Given the description of an element on the screen output the (x, y) to click on. 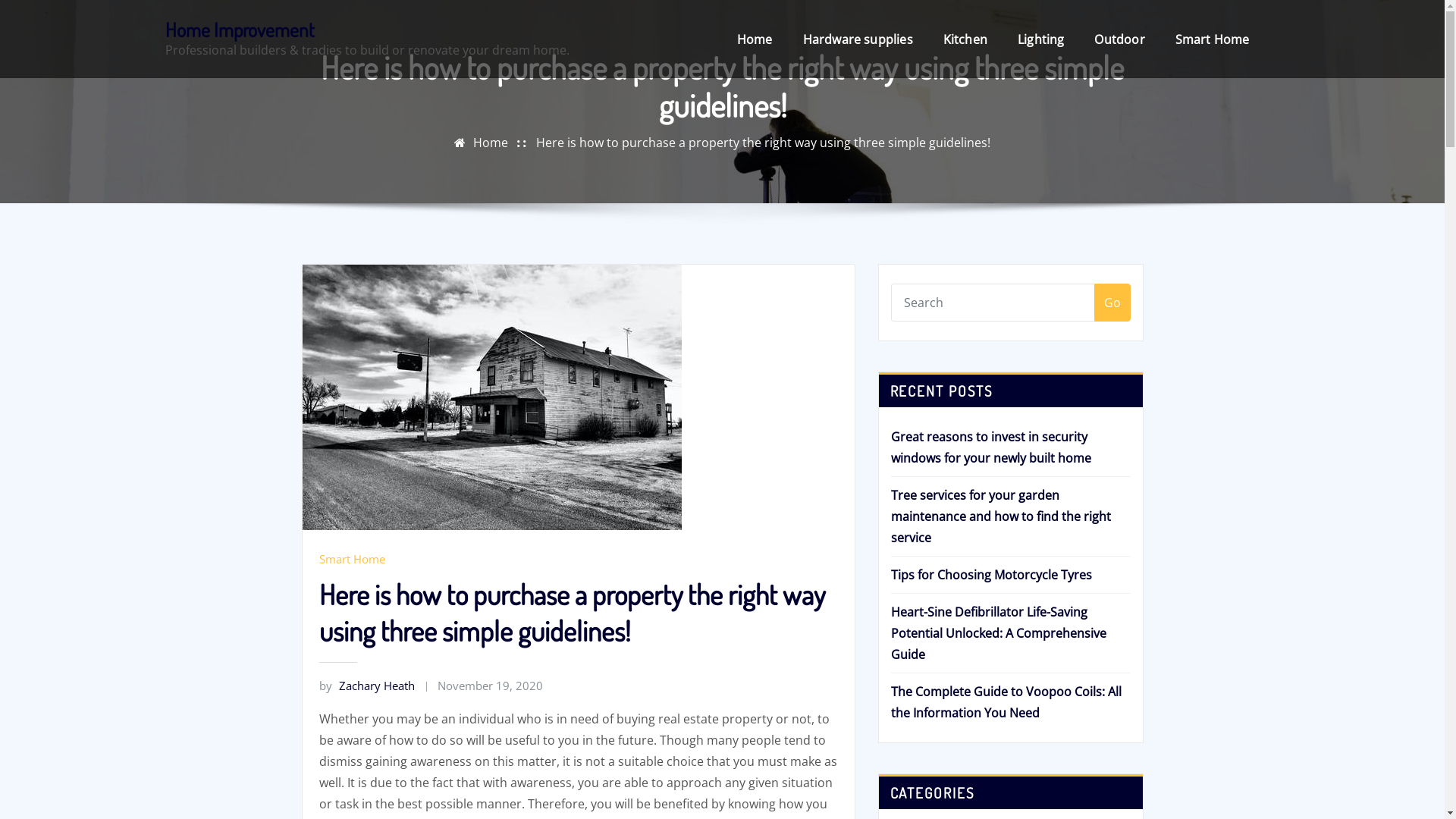
Smart Home Element type: text (1212, 39)
Home Element type: text (754, 39)
Kitchen Element type: text (965, 39)
Hardware supplies Element type: text (857, 39)
by Zachary Heath Element type: text (366, 685)
November 19, 2020 Element type: text (489, 685)
Outdoor Element type: text (1119, 39)
Lighting Element type: text (1040, 39)
Home Improvement Element type: text (239, 29)
Home Element type: text (490, 142)
Smart Home Element type: text (351, 558)
Tips for Choosing Motorcycle Tyres Element type: text (990, 574)
Go Element type: text (1111, 302)
